Given the description of an element on the screen output the (x, y) to click on. 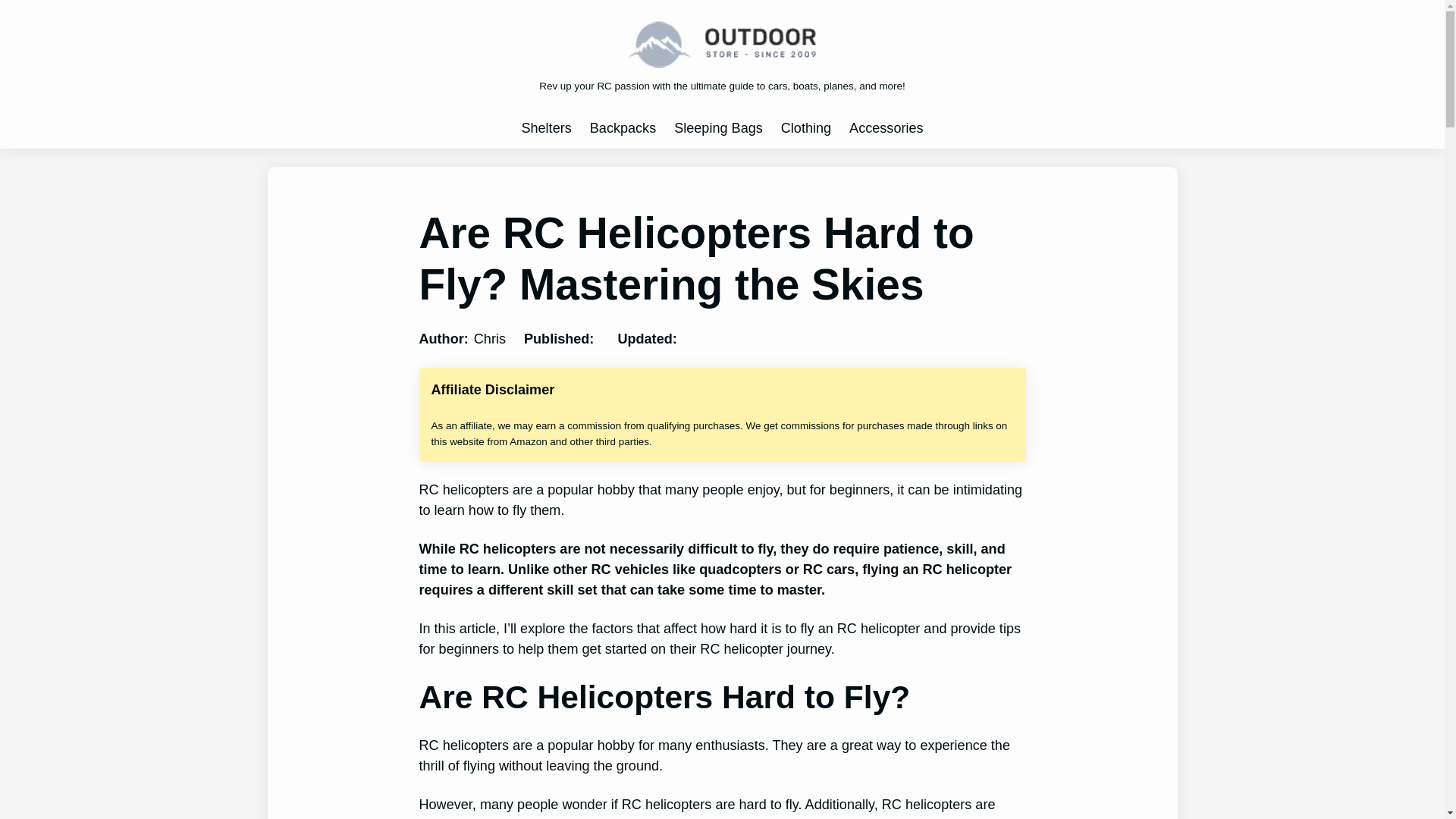
Shelters (545, 128)
Accessories (885, 128)
Sleeping Bags (718, 128)
Clothing (805, 128)
Backpacks (622, 128)
